Given the description of an element on the screen output the (x, y) to click on. 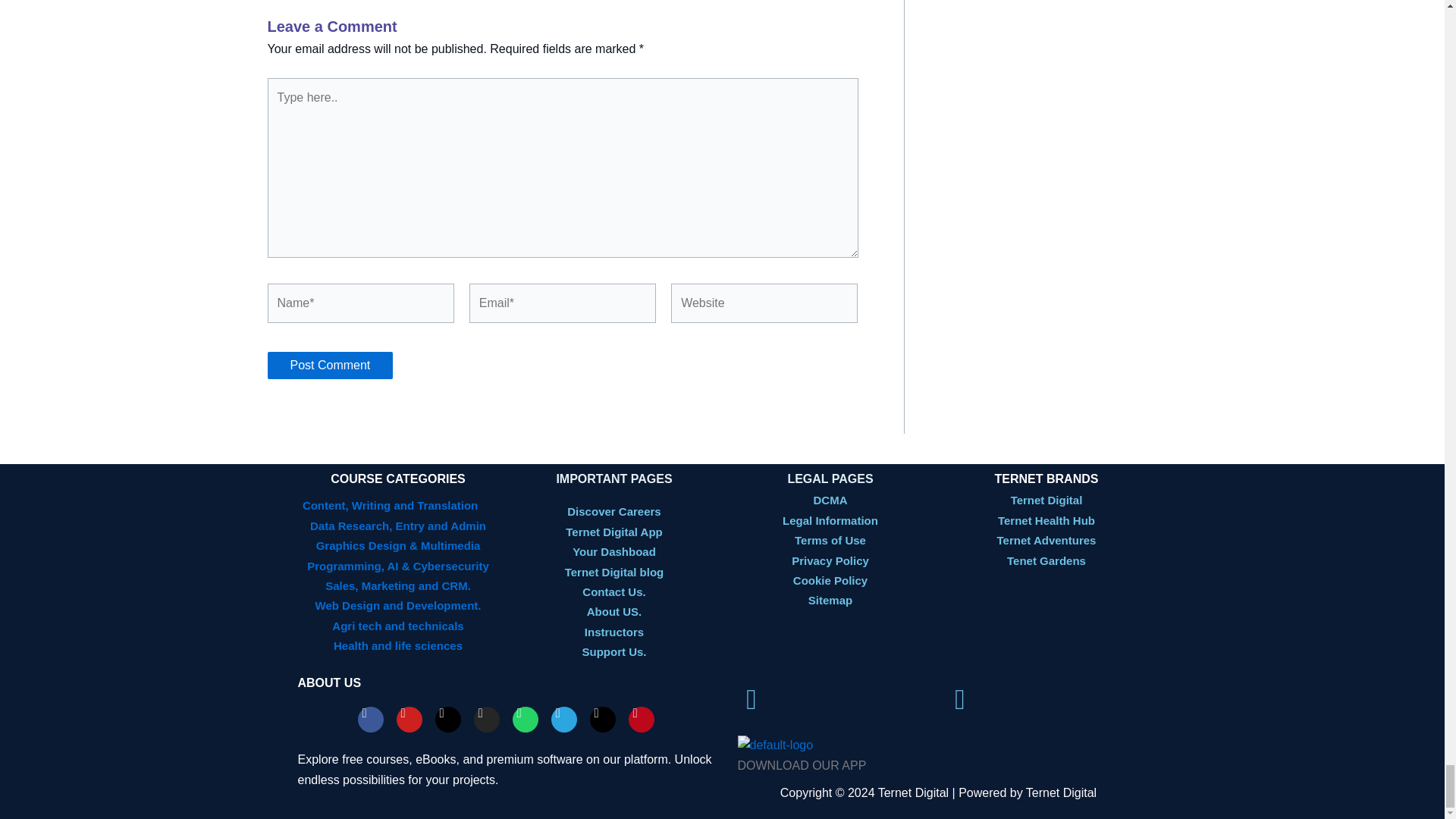
Post Comment (329, 365)
